Given the description of an element on the screen output the (x, y) to click on. 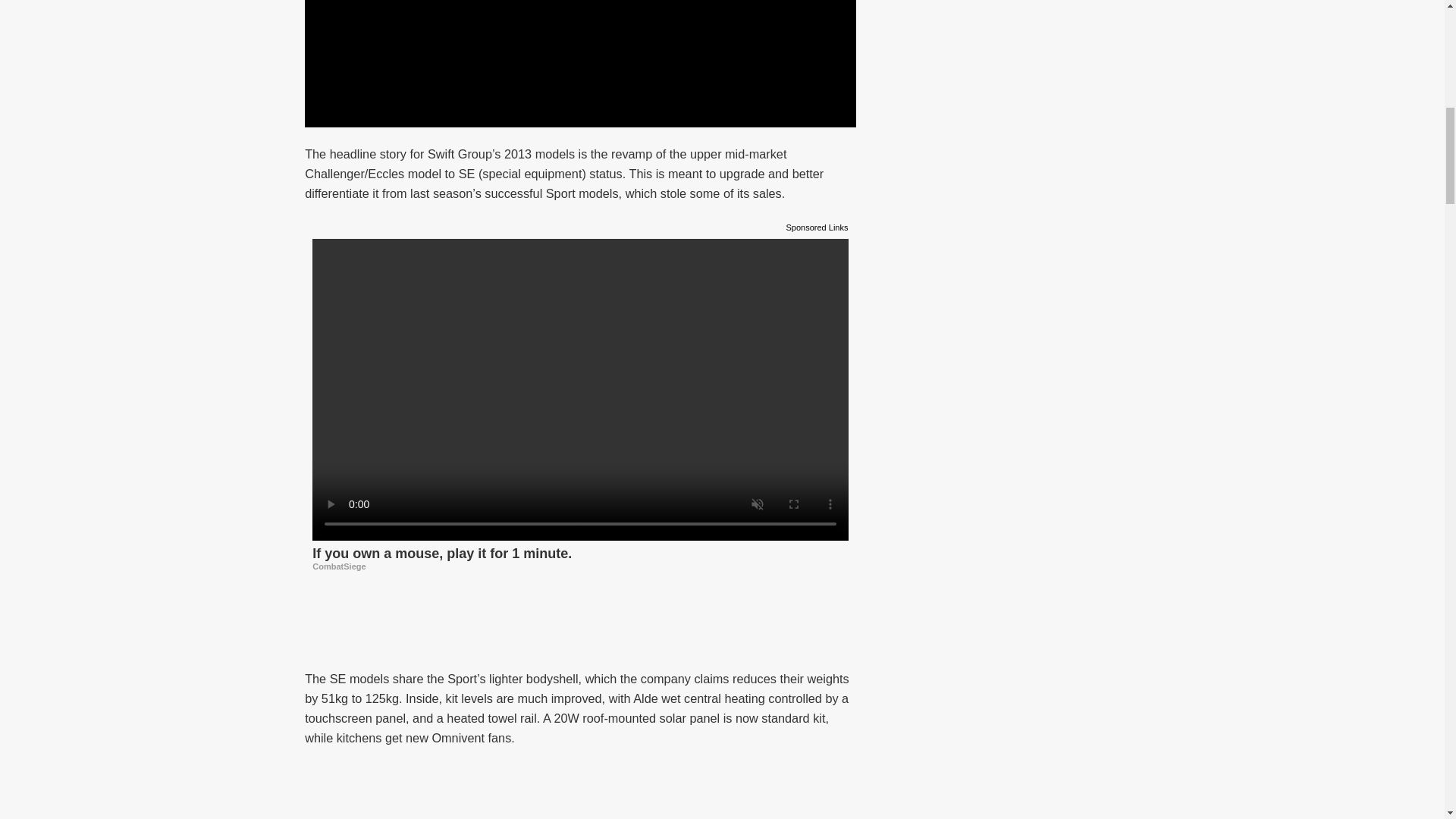
If you own a mouse, play it for 1 minute. (580, 557)
